Given the description of an element on the screen output the (x, y) to click on. 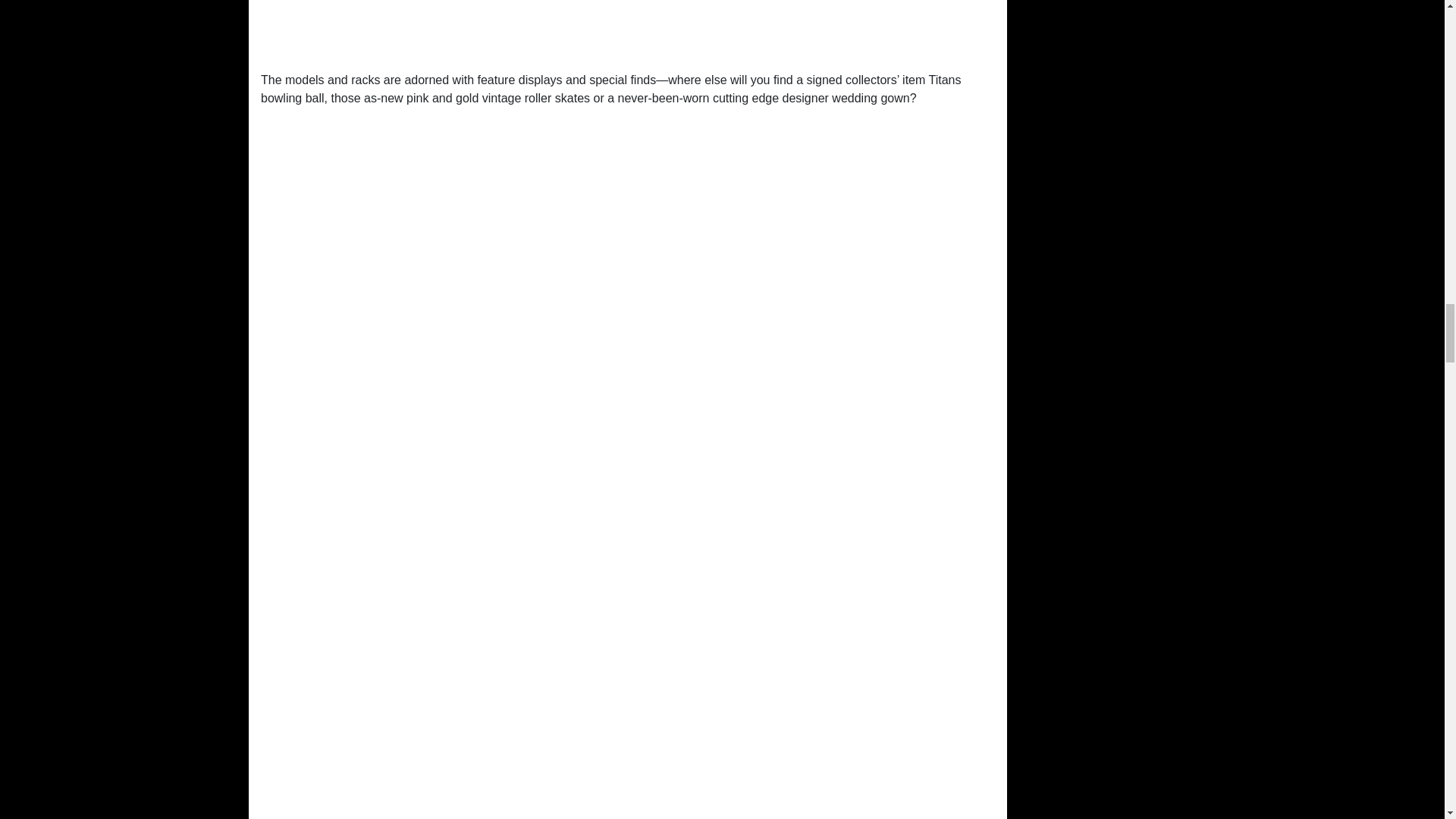
Vinnies Op Shop, Tugun (627, 29)
